Given the description of an element on the screen output the (x, y) to click on. 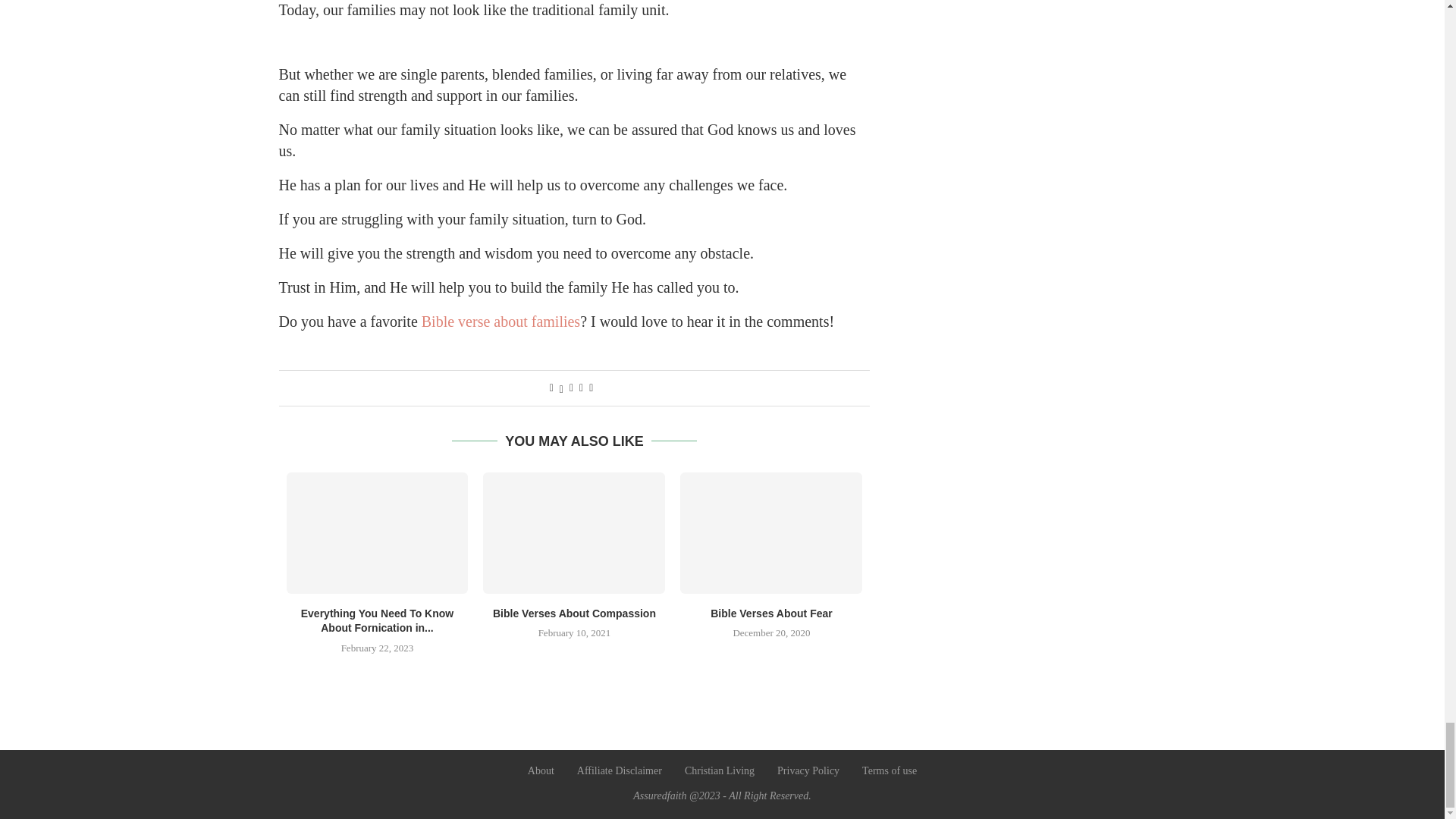
Bible Verses About Compassion (574, 532)
Everything You Need To Know About Fornication in... (376, 620)
Bible Verses About Fear (770, 532)
Bible Verses About Fear (771, 613)
Everything You Need To Know About Fornication in The Bible (377, 532)
Bible verse about families (500, 321)
Bible Verses About Compassion (574, 613)
